Given the description of an element on the screen output the (x, y) to click on. 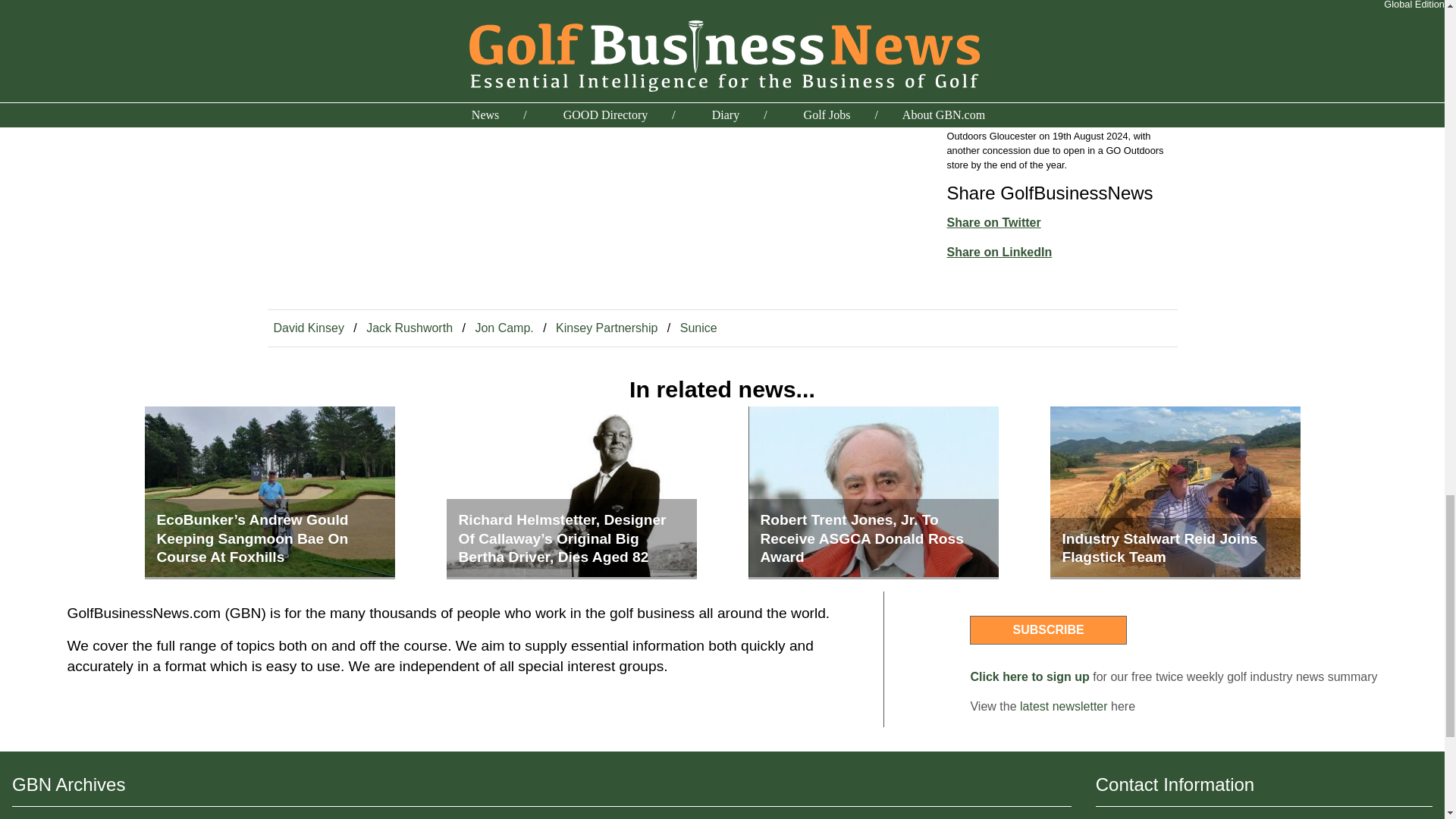
Jon Camp. (503, 327)
Jack Rushworth (408, 327)
Kinsey Partnership (606, 327)
Sunice (698, 327)
Robert Trent Jones, Jr. To Receive ASGCA Donald Ross Award (872, 492)
Share on LinkedIn (998, 251)
David Kinsey (307, 327)
Share on Twitter (993, 222)
